Given the description of an element on the screen output the (x, y) to click on. 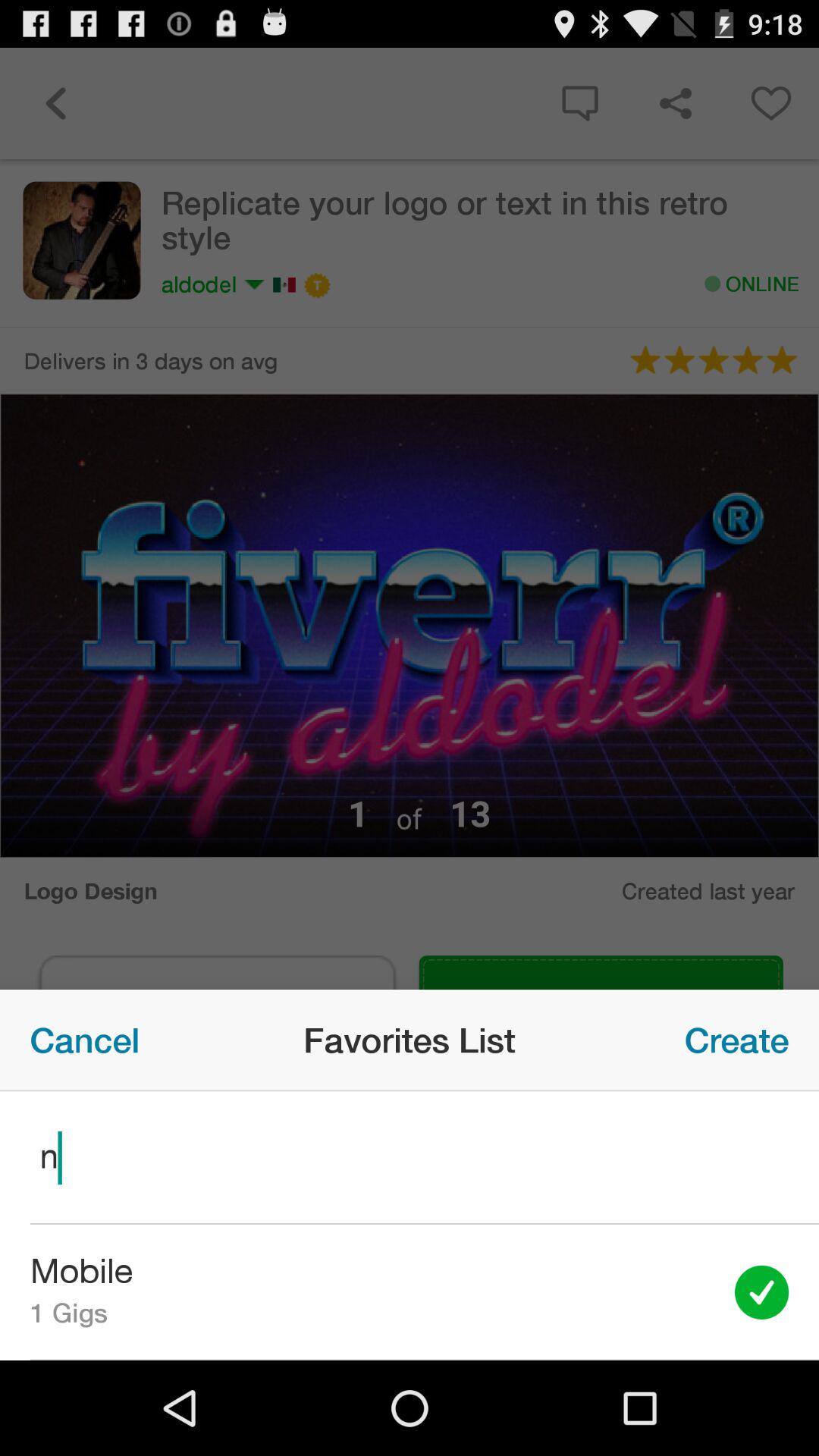
open the item to the right of the favorites list (736, 1039)
